Given the description of an element on the screen output the (x, y) to click on. 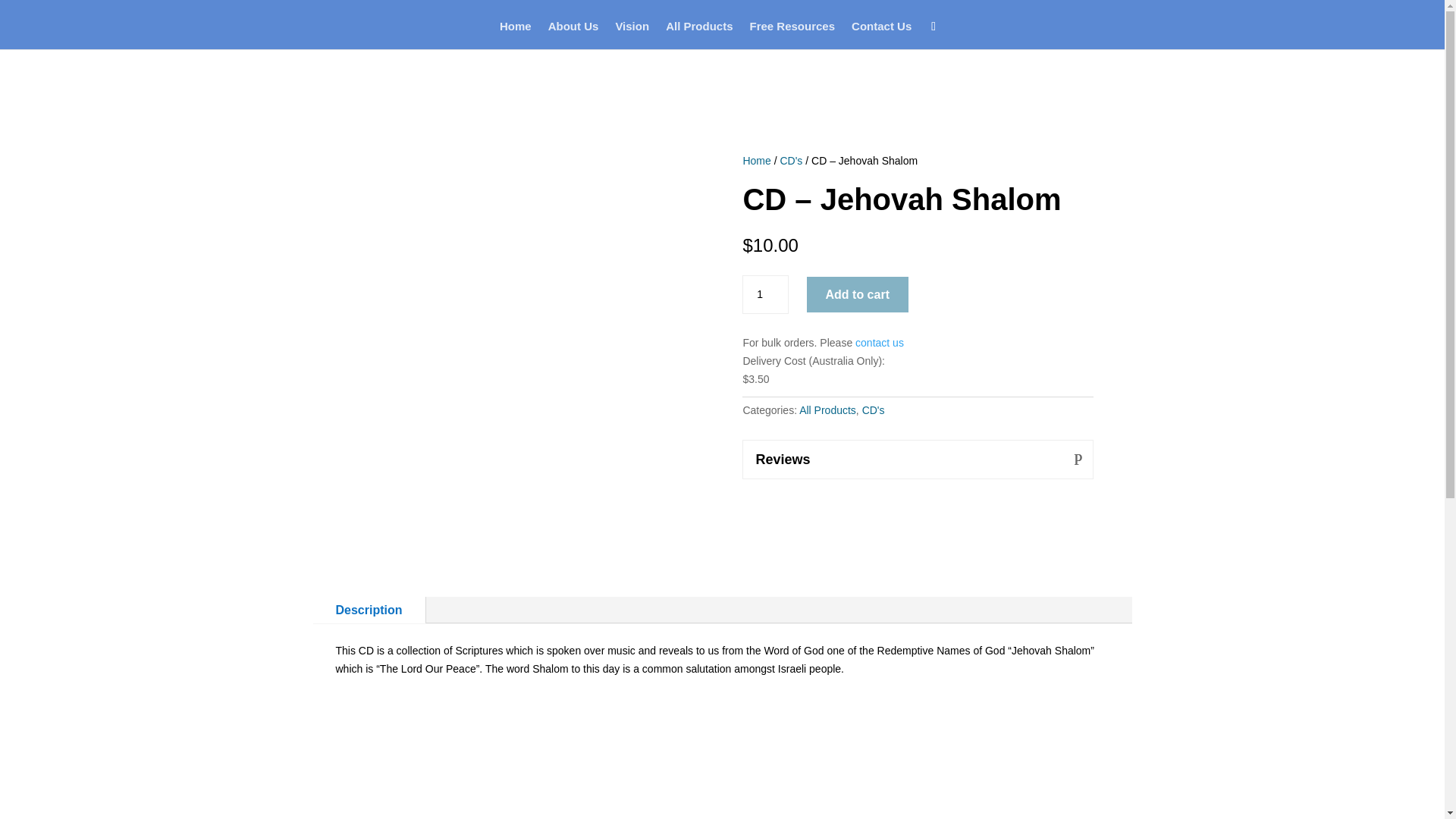
contact us (880, 342)
CD's (873, 410)
Home (515, 35)
About Us (573, 35)
Contact Us (881, 35)
All Products (827, 410)
Home (756, 160)
Description (369, 610)
Free Resources (791, 35)
1 (764, 294)
